Given the description of an element on the screen output the (x, y) to click on. 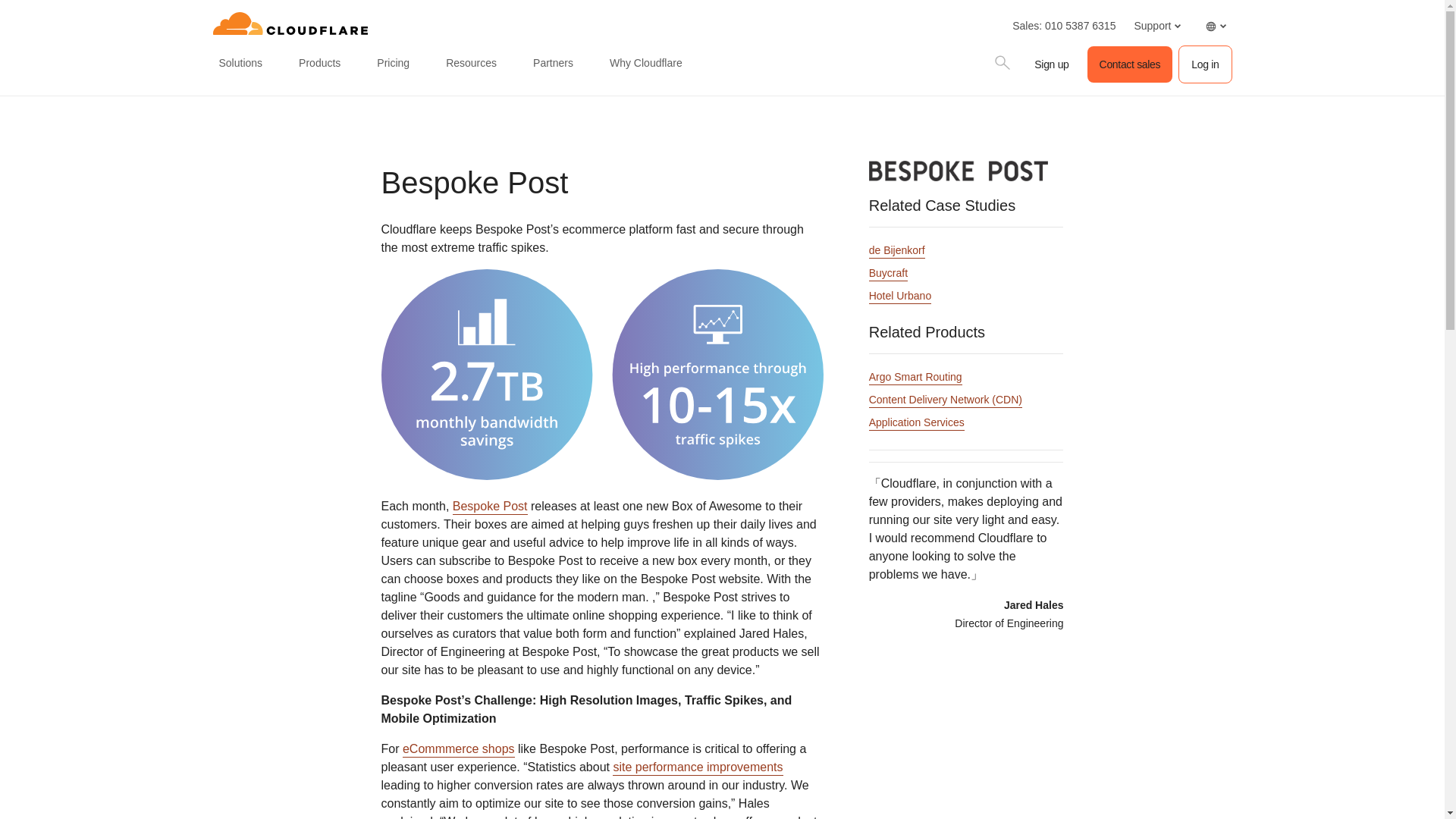
Bespoke Post (489, 507)
Log in (1204, 64)
de Bijenkorf (896, 251)
site performance improvements (697, 767)
Sign up (1051, 63)
Contact sales (1130, 63)
eCommmerce shops (459, 749)
Why Cloudflare (646, 63)
Sales: 010 5387 6315 (1063, 26)
Solutions (239, 63)
